Given the description of an element on the screen output the (x, y) to click on. 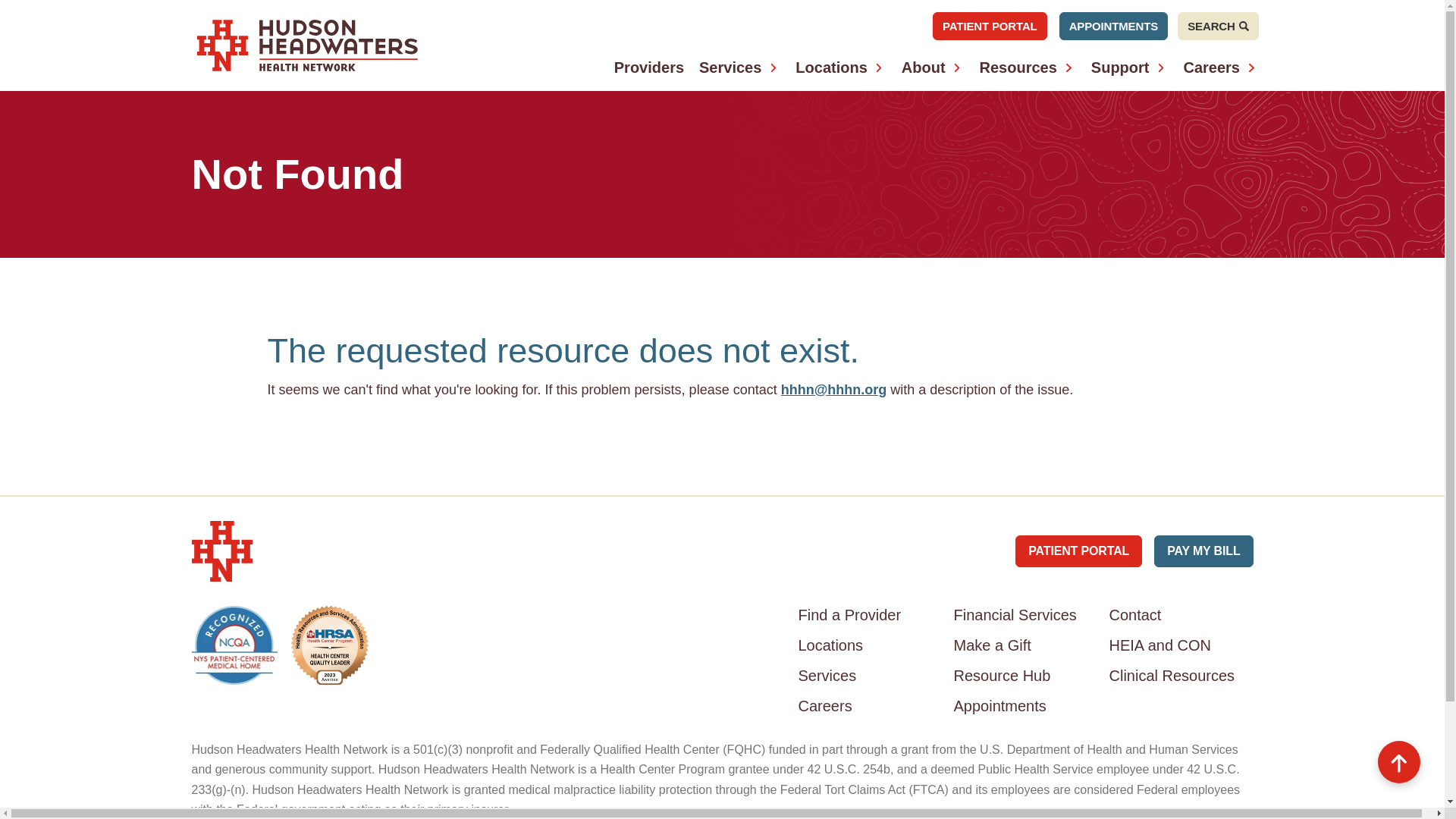
Hudson Headwaters Health Network (306, 45)
Locations (830, 66)
Services (729, 66)
Open Menu: Services (772, 67)
HRSA 2022 Health Center Quality Leader Awardee (329, 645)
NCQA Patient-Centered Medical Home Recognized Practice (234, 645)
Providers (649, 66)
APPOINTMENTS (1113, 26)
